Given the description of an element on the screen output the (x, y) to click on. 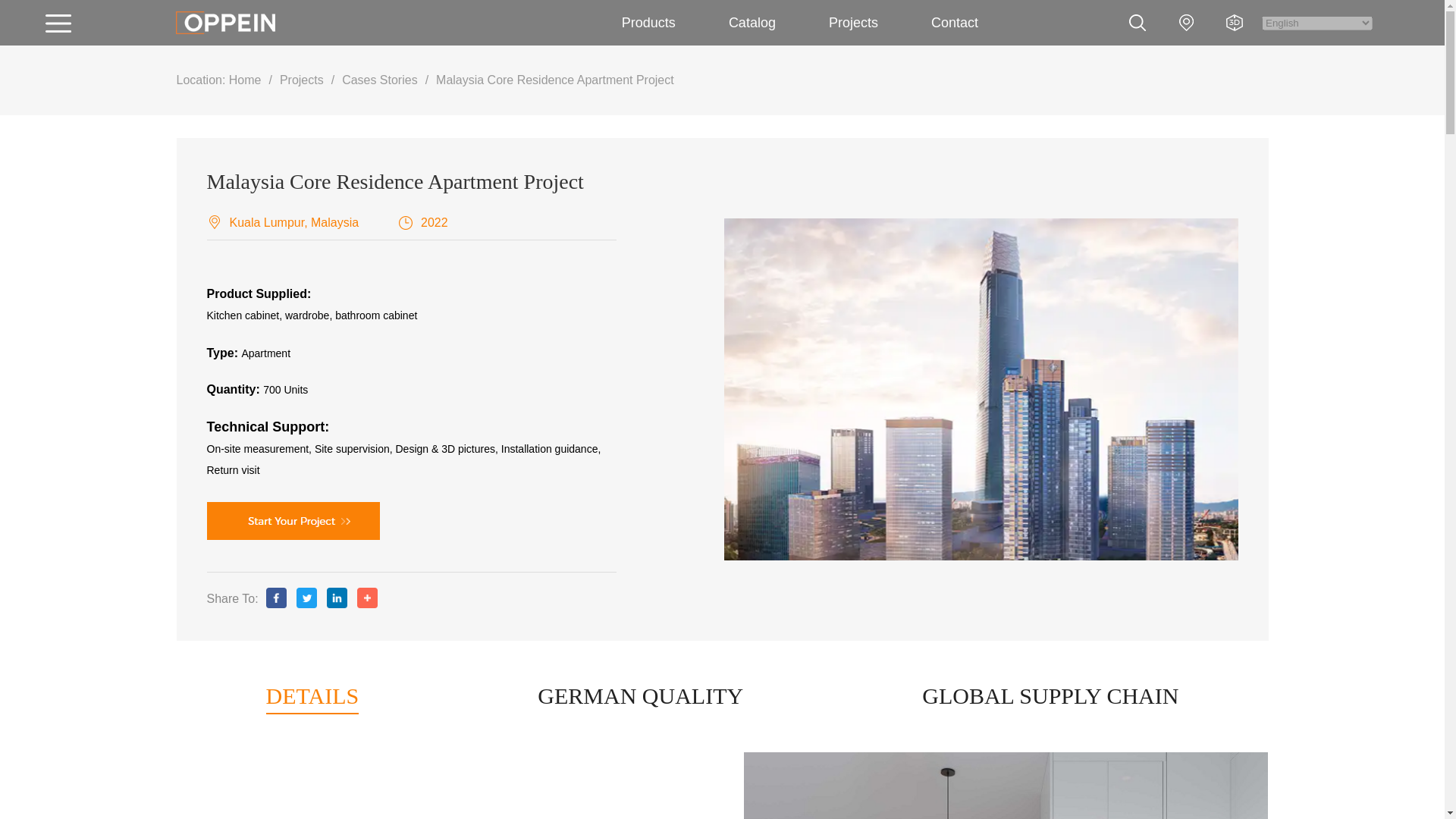
Products (648, 22)
menu (65, 22)
Products (648, 22)
logo (225, 22)
